Given the description of an element on the screen output the (x, y) to click on. 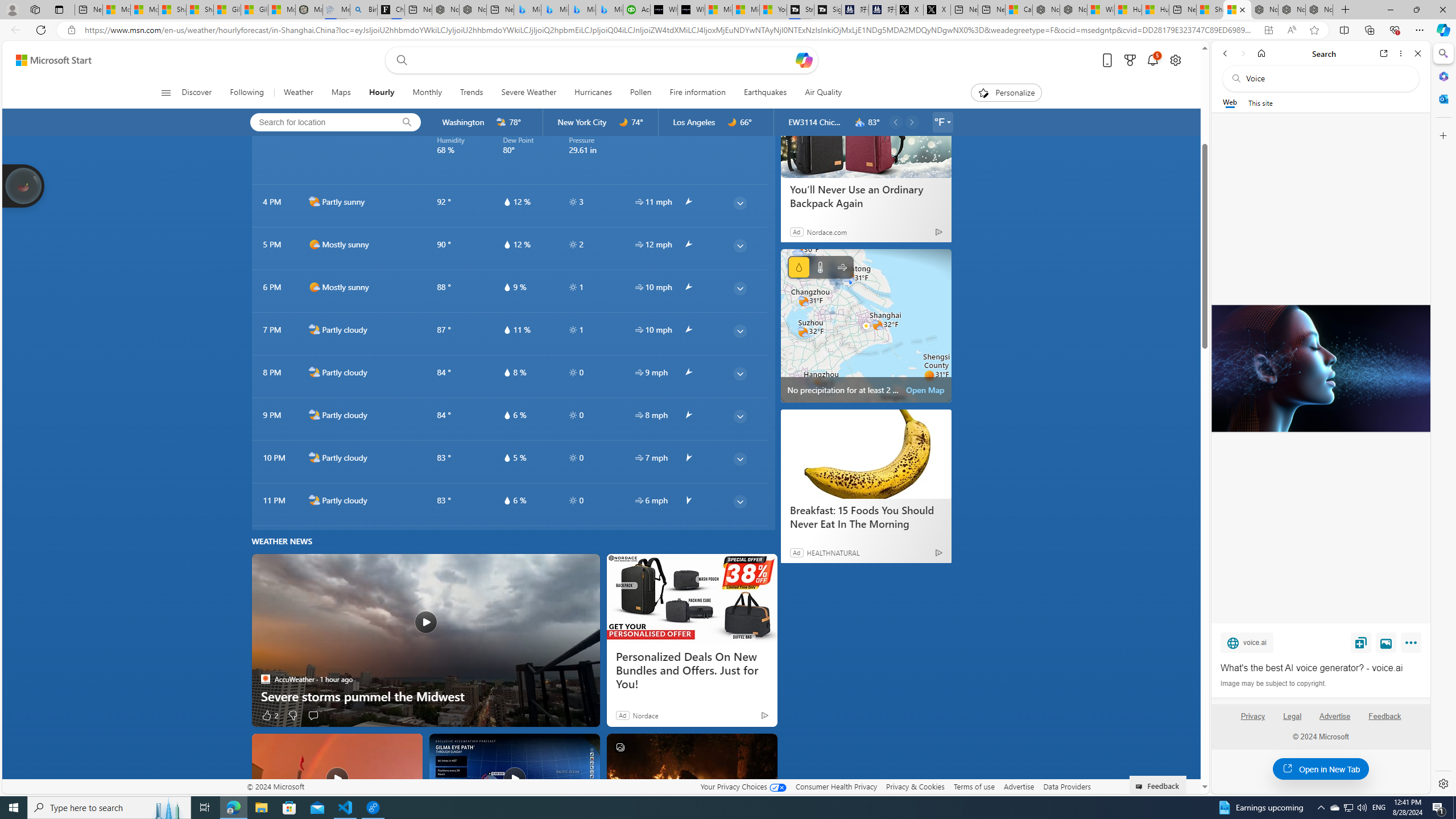
AccuWeather (265, 678)
locationBar/triangle (948, 122)
Air Quality (824, 92)
Severe Weather (528, 92)
Earthquakes (765, 92)
